Given the description of an element on the screen output the (x, y) to click on. 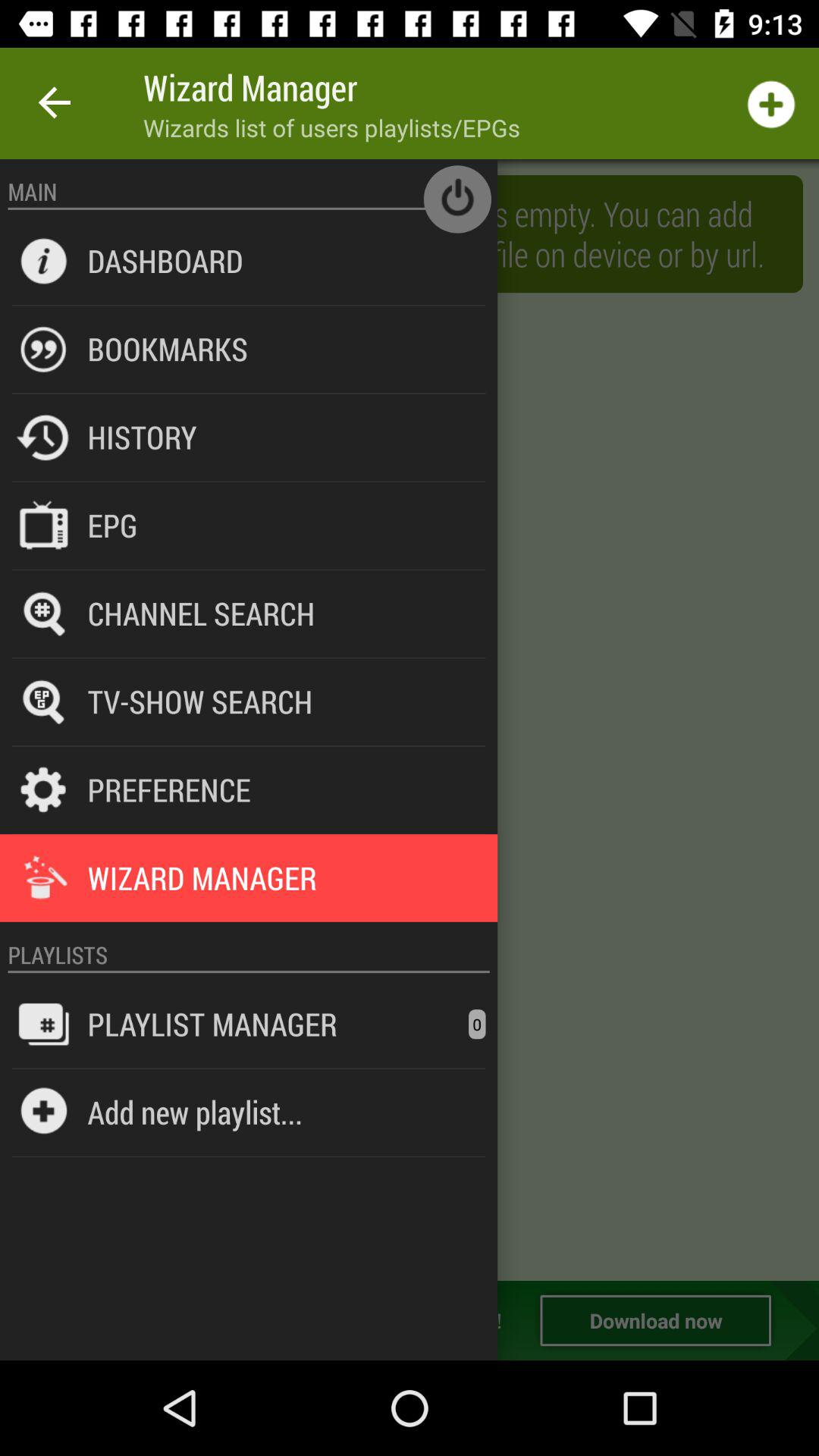
choose the channel search (201, 613)
